Given the description of an element on the screen output the (x, y) to click on. 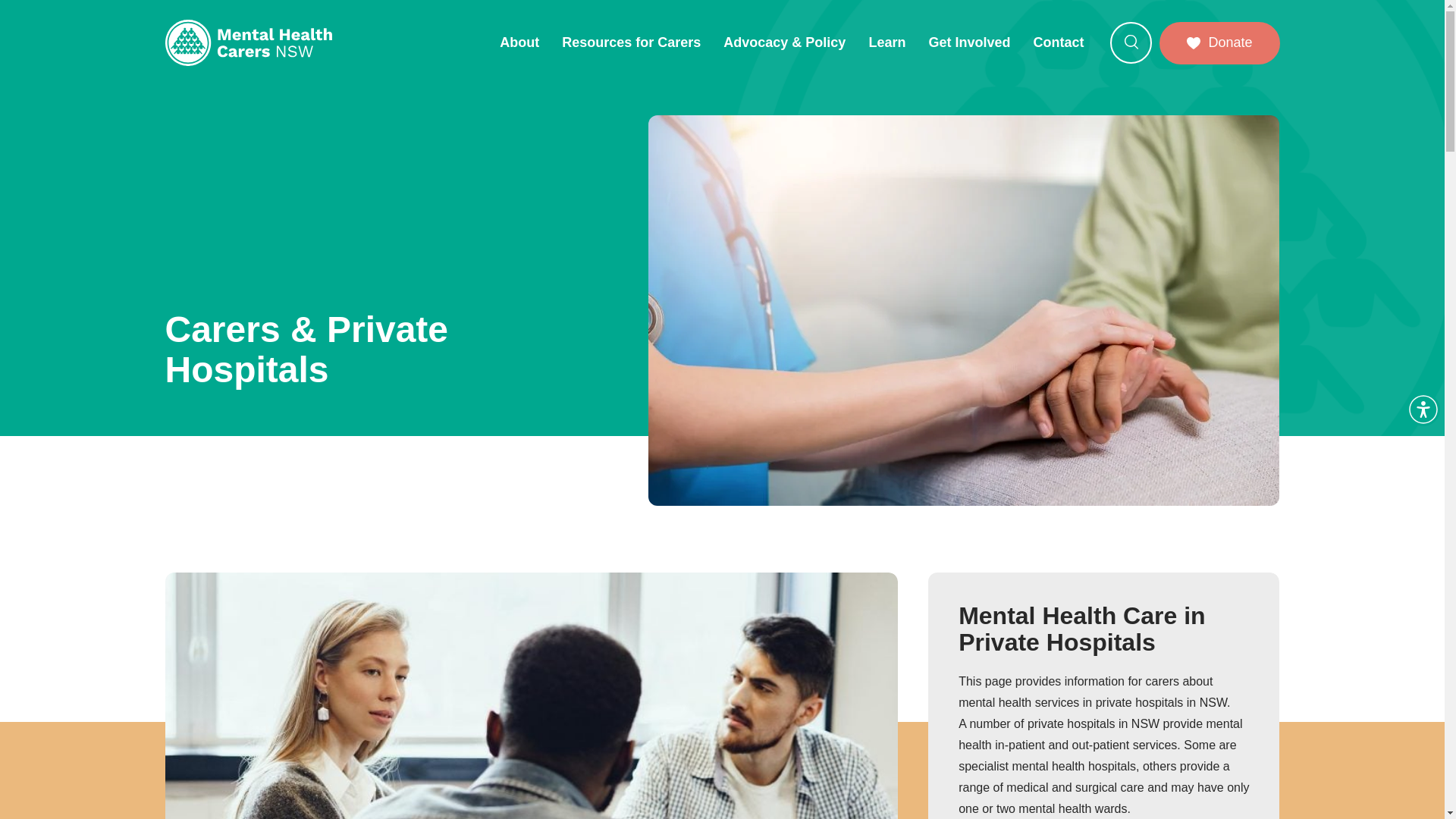
Donate (1218, 43)
Learn (887, 43)
About (518, 43)
Get Involved (969, 43)
Contact (1058, 43)
Resources for Carers (630, 43)
Accessibility Menu (1422, 409)
